Given the description of an element on the screen output the (x, y) to click on. 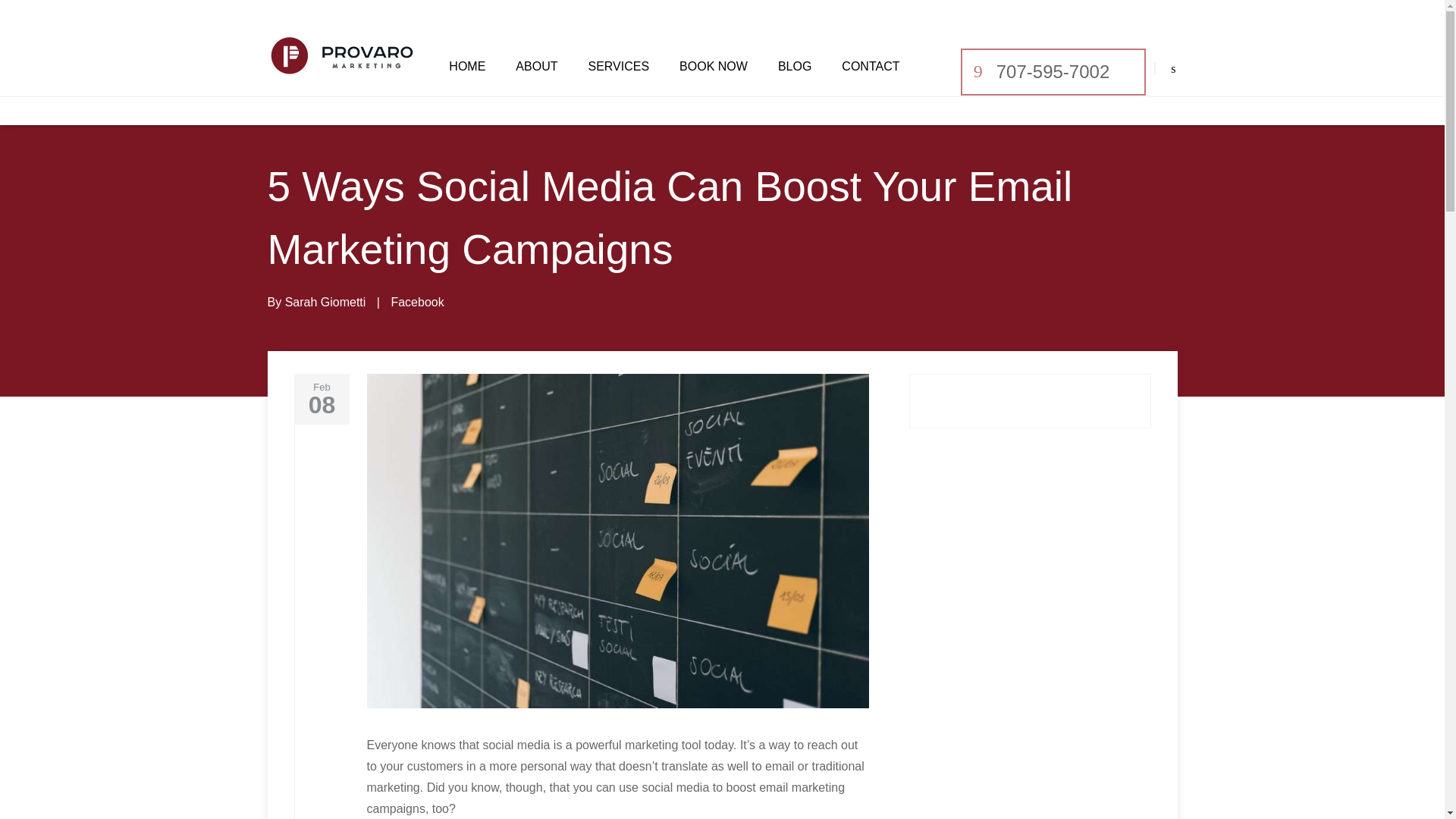
ABOUT (536, 66)
707-595-7002 (1052, 71)
CONTACT (870, 66)
HOME (466, 66)
BOOK NOW (713, 66)
Sarah Giometti (325, 301)
Facebook (417, 301)
BLOG (793, 66)
SERVICES (618, 66)
